Given the description of an element on the screen output the (x, y) to click on. 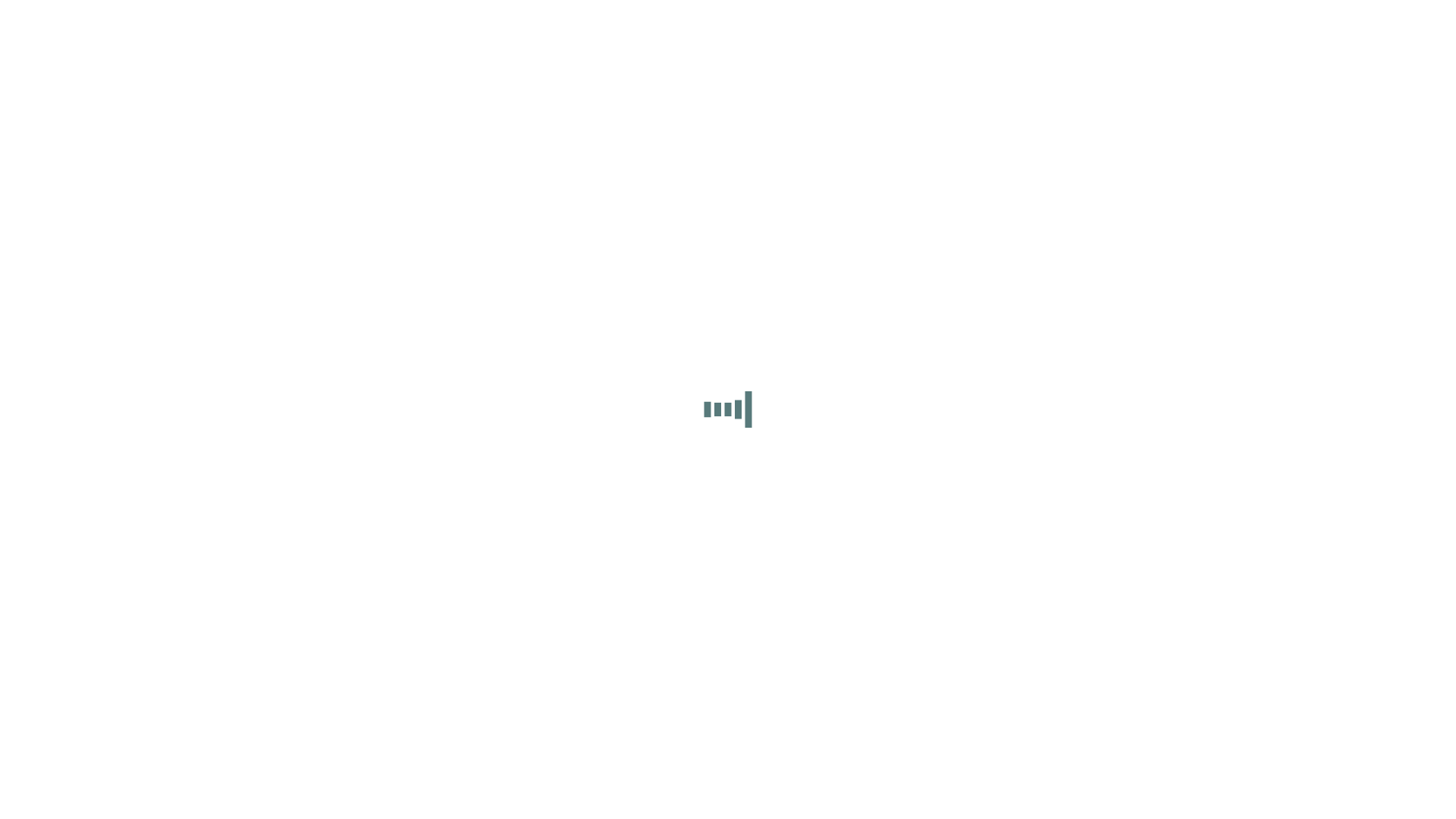
Contact Element type: text (1164, 14)
Find out how. Element type: text (1007, 162)
Projects Element type: text (1125, 14)
4D Commercial Element type: text (1383, 708)
4D Commercial Element type: text (1067, 14)
4Dimensions-Luxton-Plant_Thumb Element type: hover (397, 273)
View More Element type: text (727, 614)
Design and Build 3sidedsquare Element type: text (347, 708)
Contact Element type: text (1310, 708)
Home Element type: text (1013, 14)
